Given the description of an element on the screen output the (x, y) to click on. 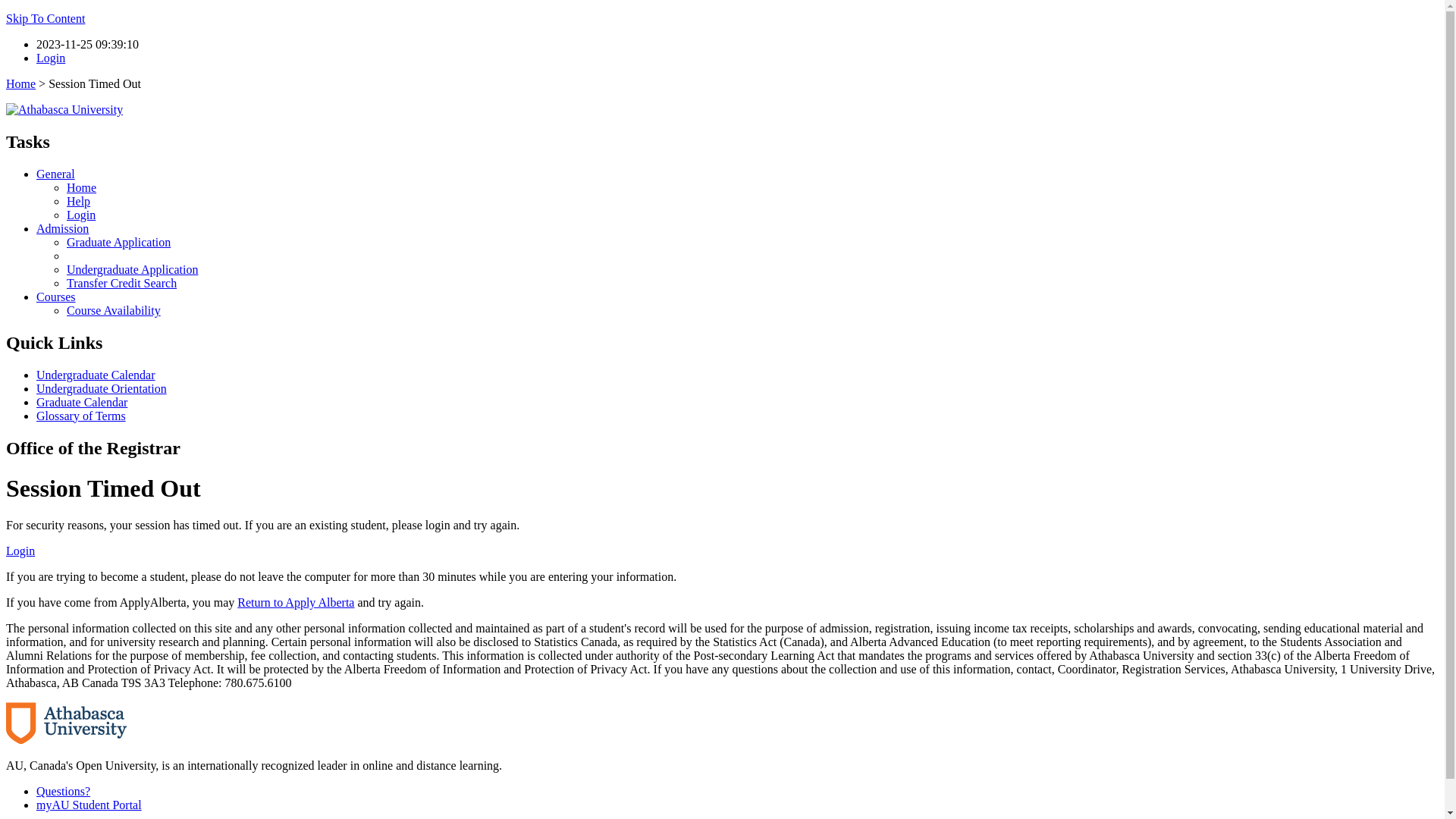
Undergraduate Application Element type: text (131, 269)
Glossary of Terms Element type: text (80, 415)
Questions? Element type: text (63, 790)
General Element type: text (55, 173)
Graduate Application Element type: text (118, 241)
Login Element type: text (50, 57)
Courses Element type: text (55, 296)
Login Element type: text (80, 214)
Athabasca University Element type: hover (66, 722)
Course Availability Element type: text (113, 310)
Transfer Credit Search Element type: text (121, 282)
Home Element type: text (20, 83)
Home Element type: text (81, 187)
myAU Student Portal Element type: text (88, 804)
Skip To Content Element type: text (45, 18)
Admission Element type: text (62, 228)
Undergraduate Orientation Element type: text (101, 388)
Graduate Calendar Element type: text (81, 401)
Return to Apply Alberta Element type: text (295, 602)
Help Element type: text (78, 200)
Athabasca University Element type: hover (64, 109)
Undergraduate Calendar Element type: text (95, 374)
Login Element type: text (20, 550)
